Given the description of an element on the screen output the (x, y) to click on. 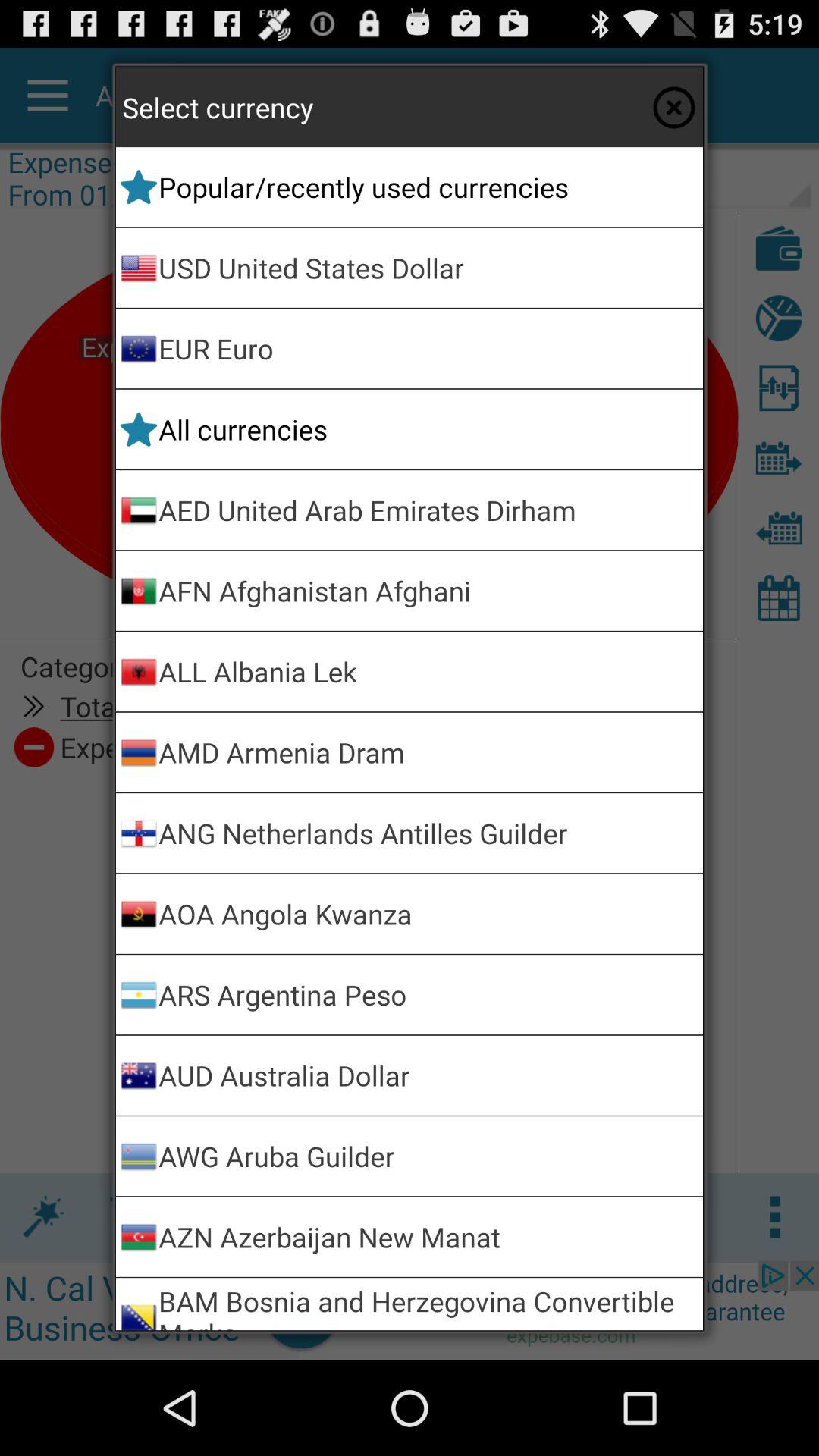
turn off app above the eur euro icon (427, 267)
